Given the description of an element on the screen output the (x, y) to click on. 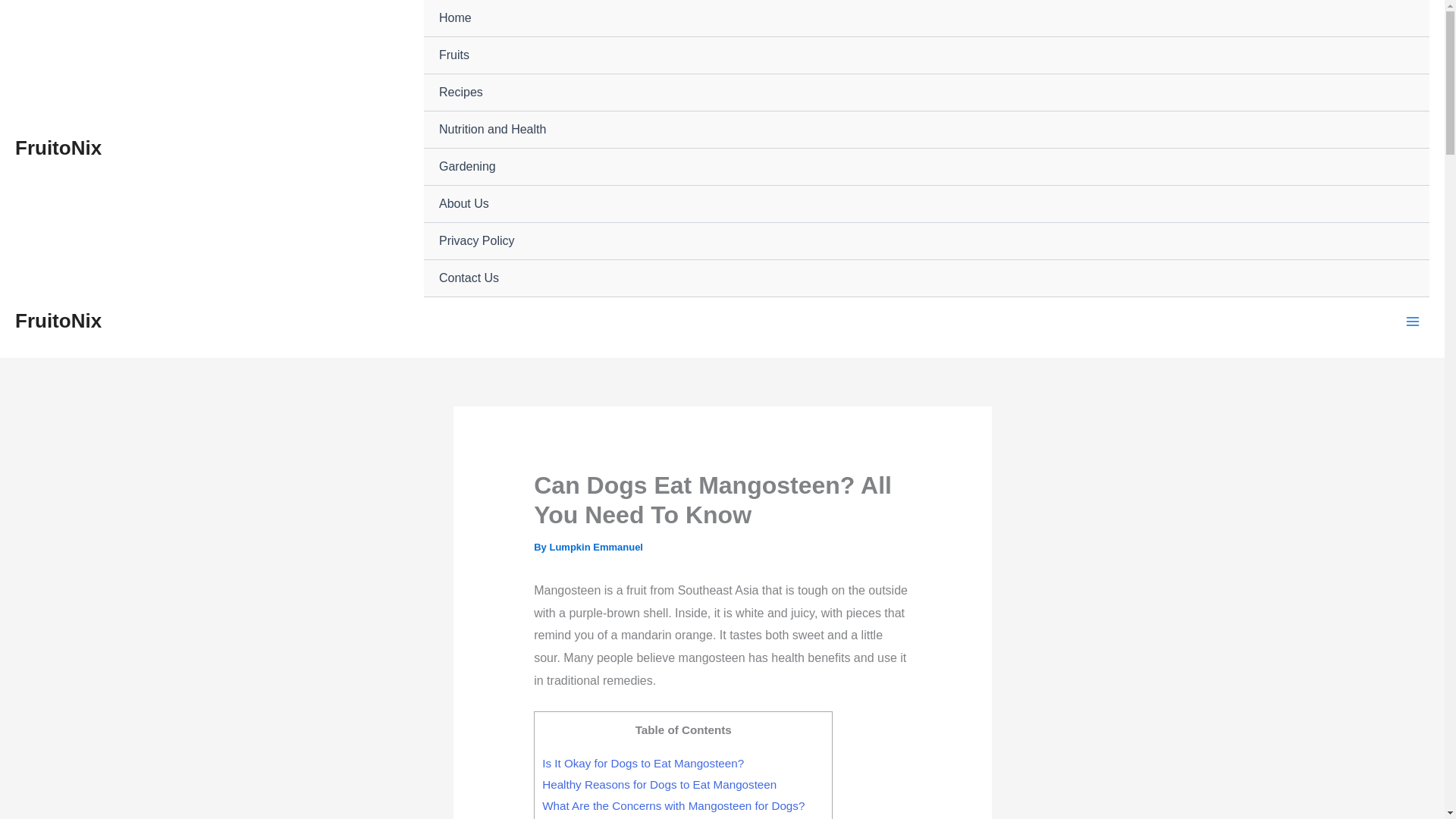
Nutrition and Health (926, 129)
Is It Okay for Dogs to Eat Mangosteen? (642, 762)
Home (926, 18)
What Are the Concerns with Mangosteen for Dogs? (673, 805)
Gardening (926, 166)
FruitoNix (57, 320)
Recipes (926, 92)
View all posts by Lumpkin Emmanuel (595, 546)
FruitoNix (57, 147)
About Us (926, 203)
